Given the description of an element on the screen output the (x, y) to click on. 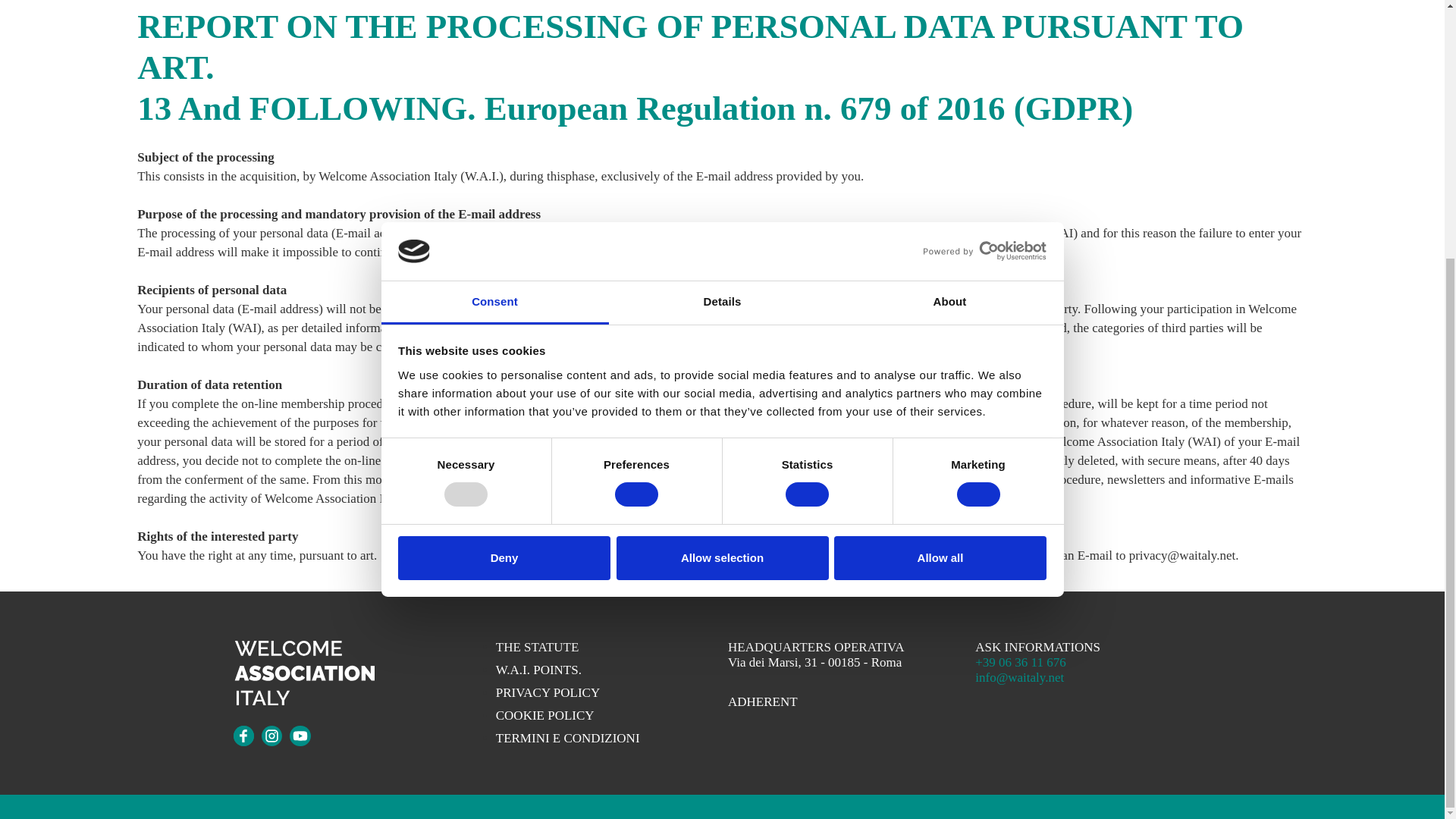
Deny (503, 189)
Allow selection (721, 189)
Allow all (940, 189)
